Given the description of an element on the screen output the (x, y) to click on. 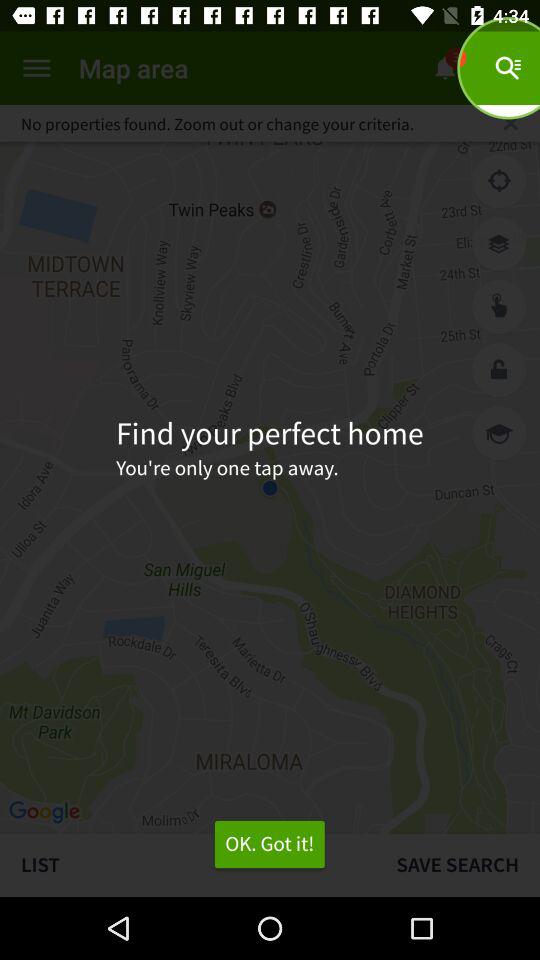
turn on the item to the left of map area (36, 68)
